Given the description of an element on the screen output the (x, y) to click on. 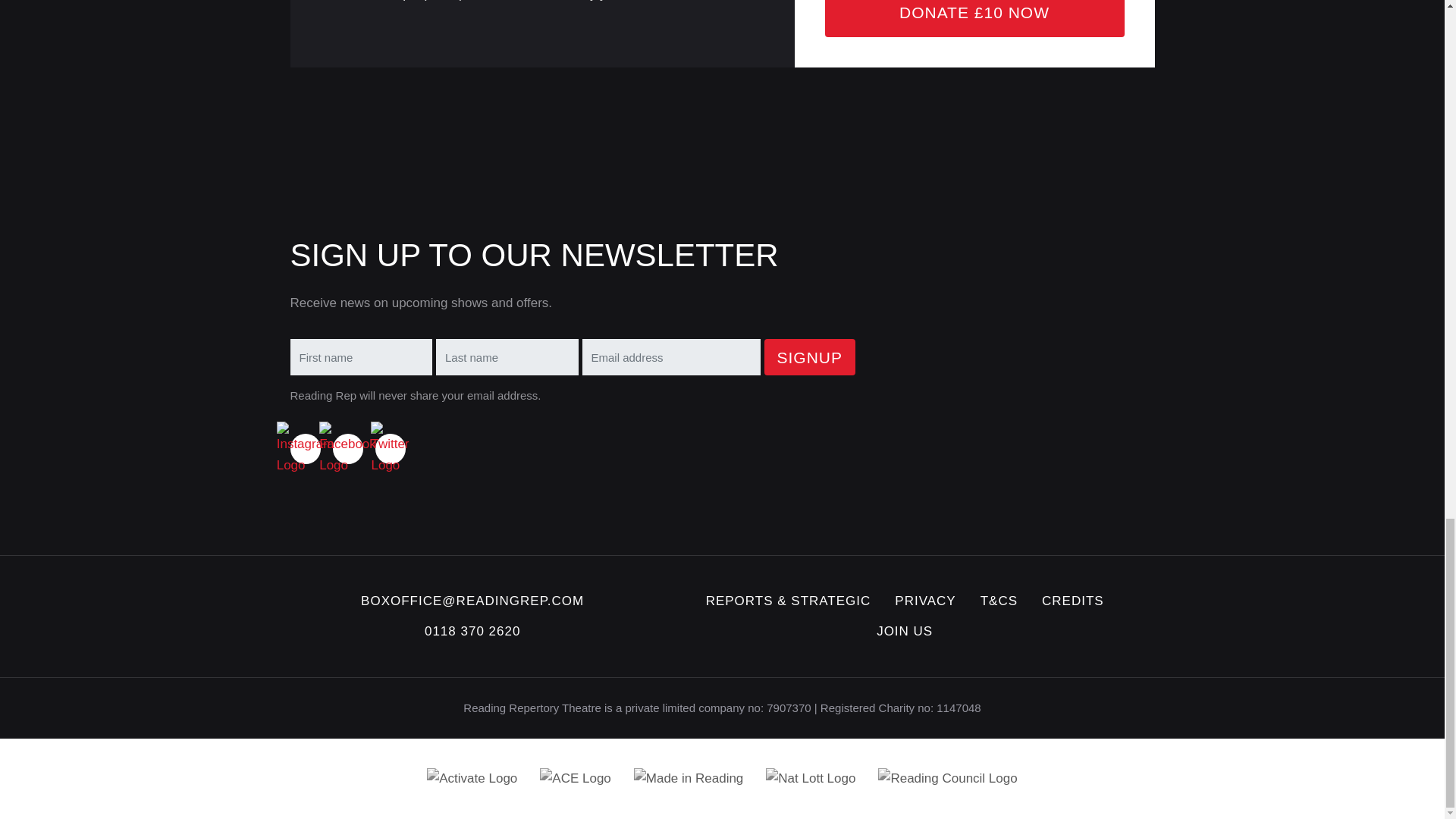
CREDITS (1072, 600)
0118 370 2620 (472, 631)
JOIN US (904, 631)
Signup (810, 357)
PRIVACY (925, 600)
Signup (810, 357)
